Given the description of an element on the screen output the (x, y) to click on. 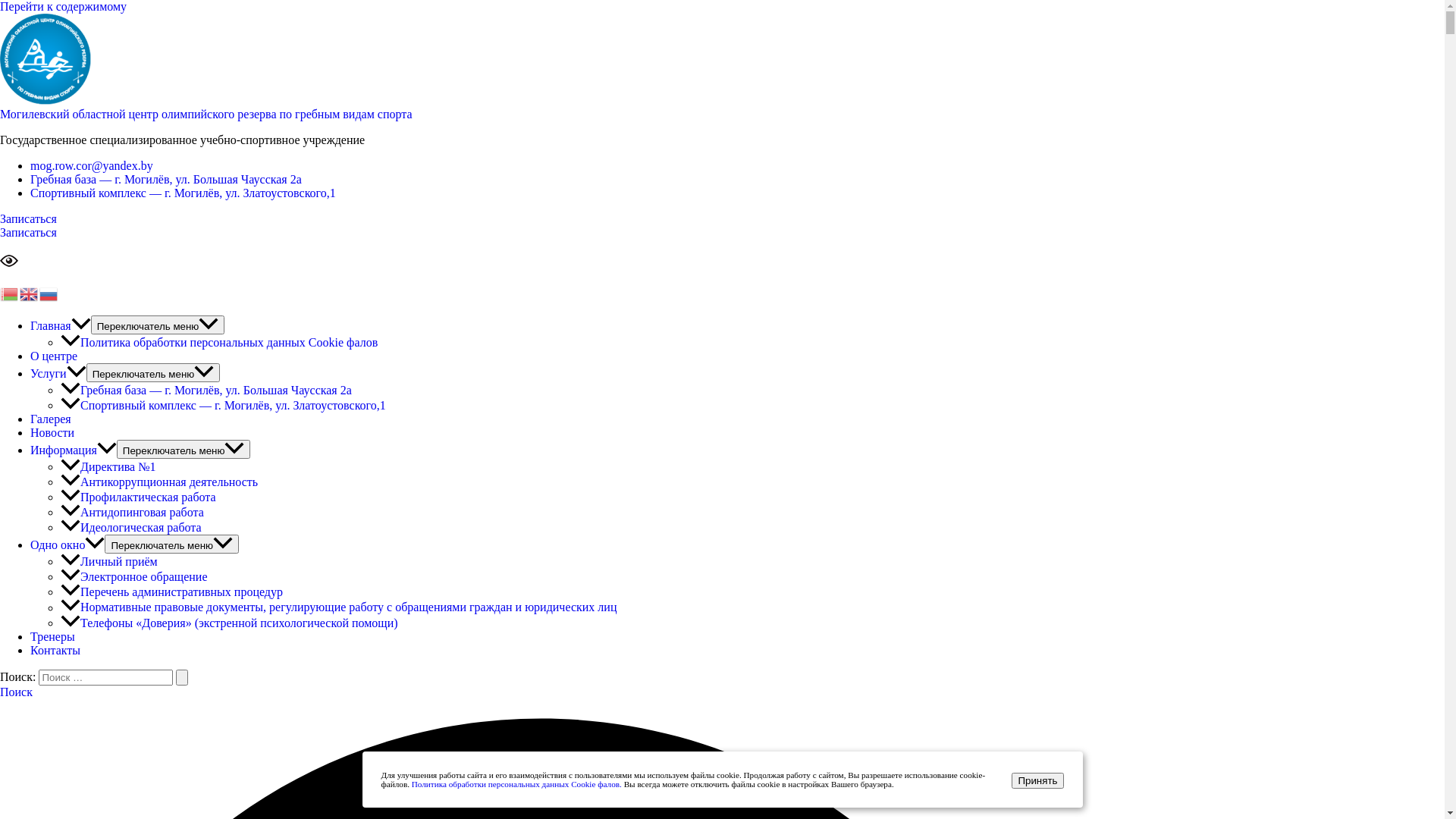
Belarusian Element type: hover (9, 292)
Russian Element type: hover (49, 292)
mog.row.cor@yandex.by Element type: text (91, 165)
English Element type: hover (29, 292)
